Given the description of an element on the screen output the (x, y) to click on. 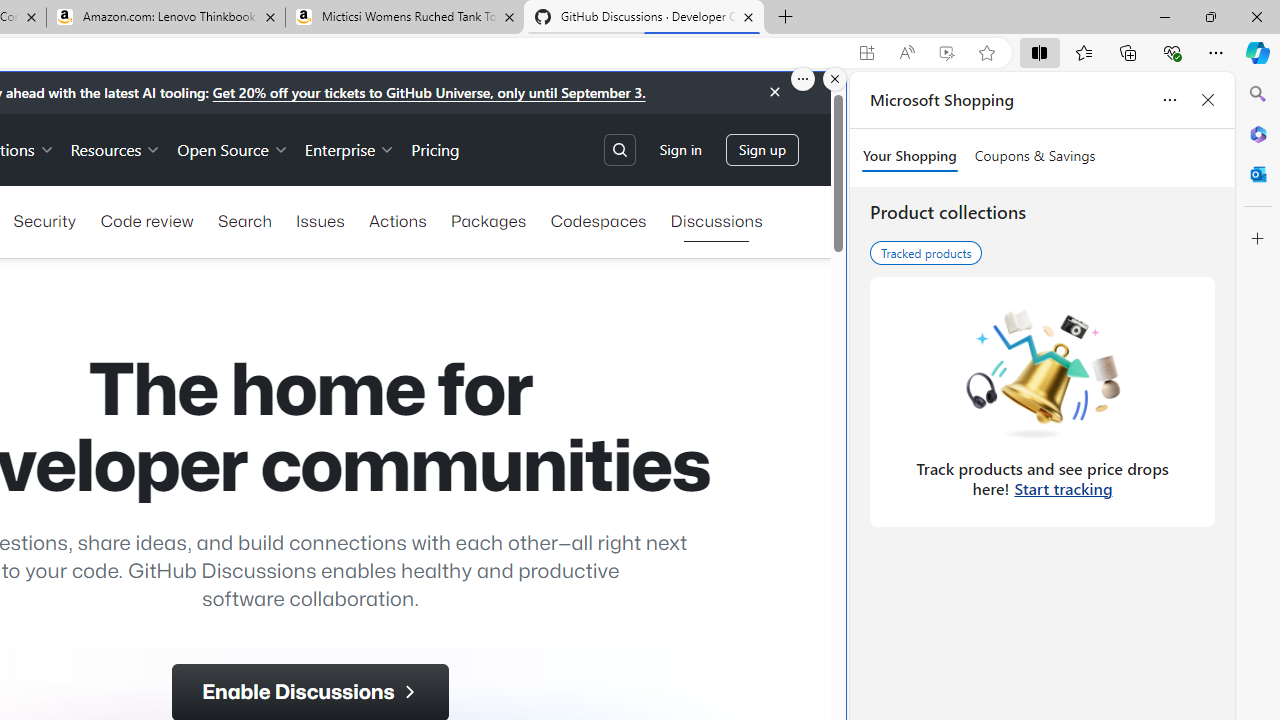
Close split screen. (835, 79)
Security (44, 220)
Pricing (435, 148)
Open Source (232, 148)
More options. (803, 79)
Code review (146, 220)
Enterprise (349, 148)
